Given the description of an element on the screen output the (x, y) to click on. 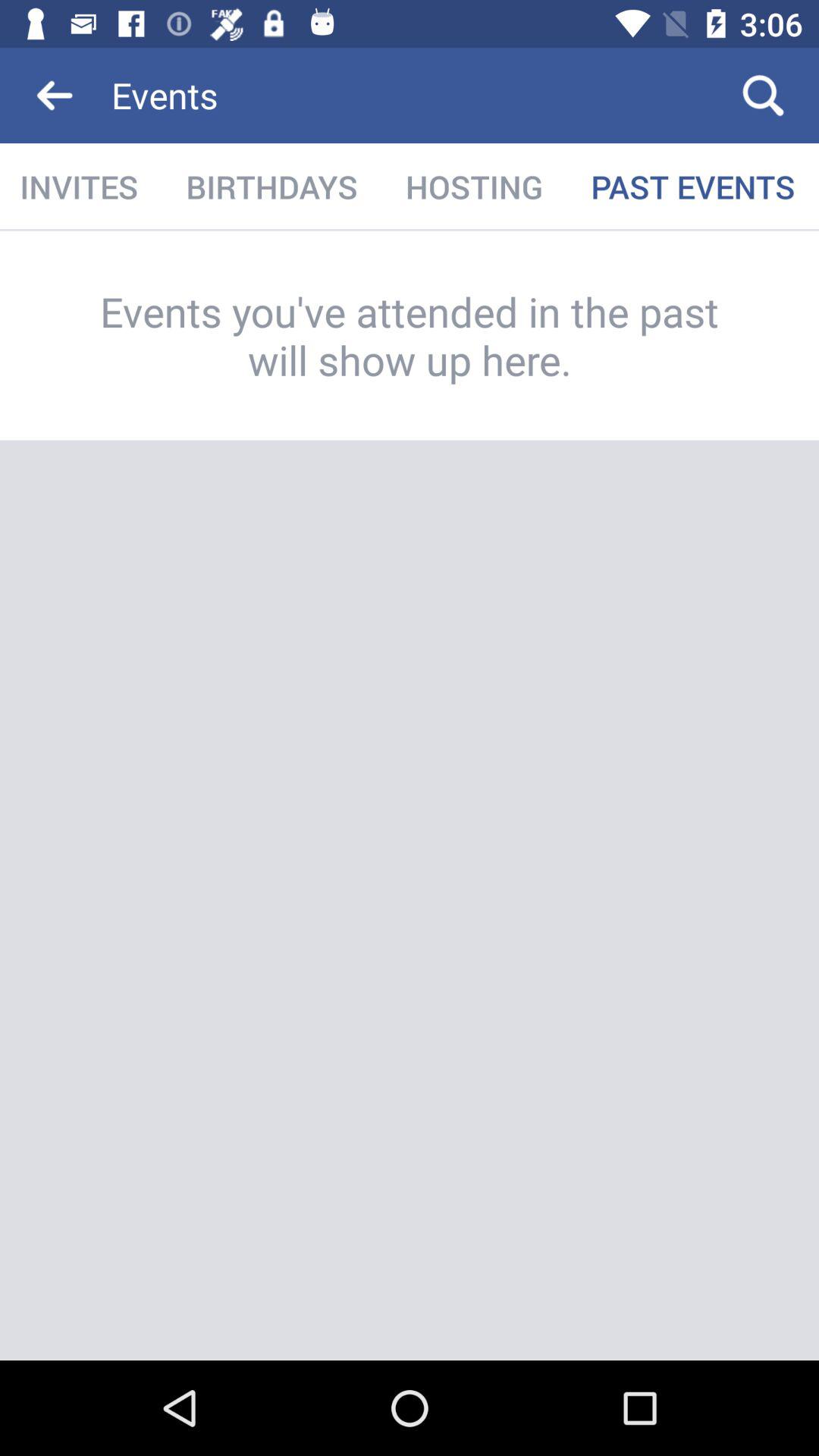
press the icon to the left of events icon (55, 95)
